Given the description of an element on the screen output the (x, y) to click on. 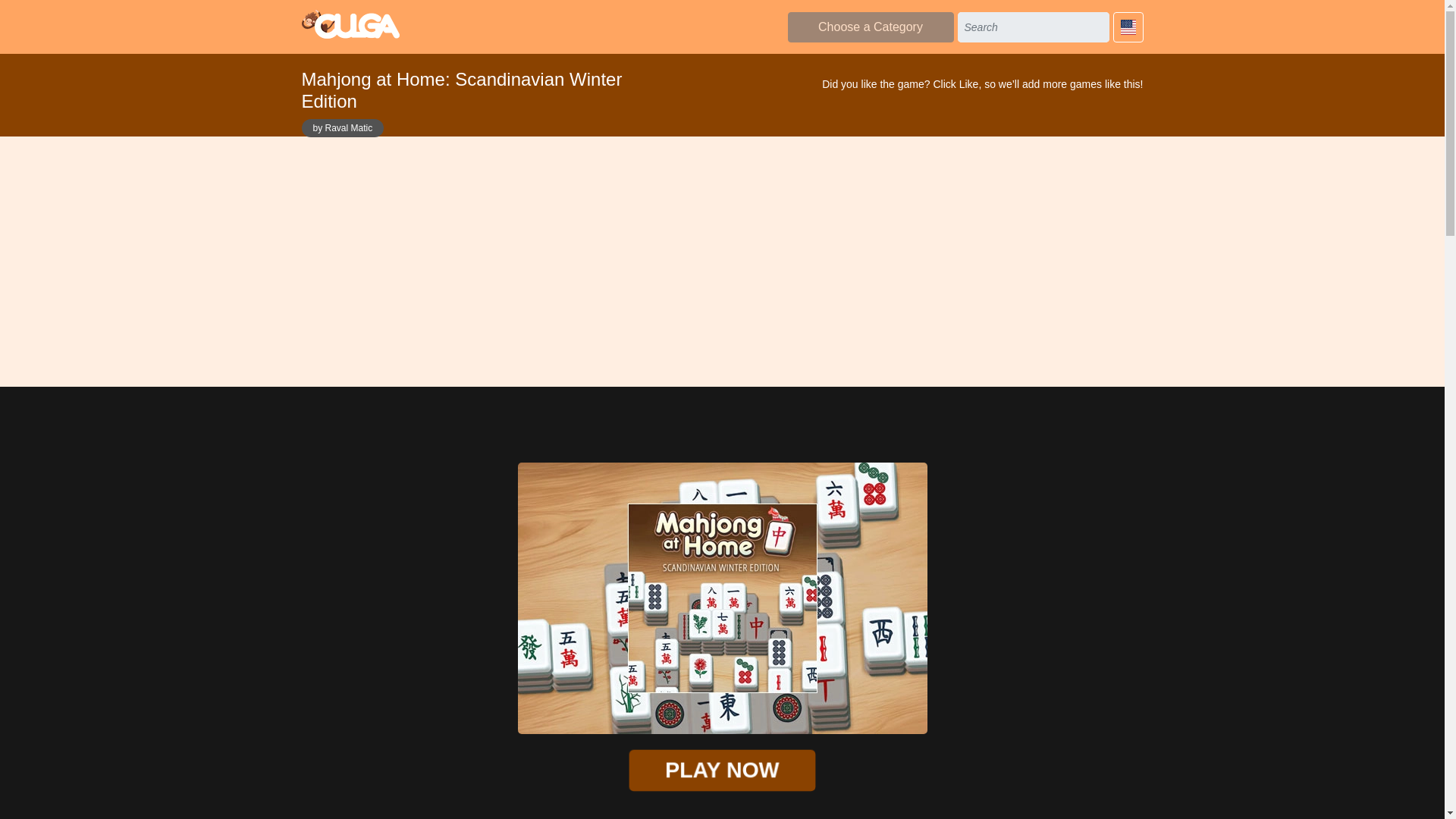
Culga.com (349, 23)
Culga.com (349, 23)
Choose a Category (870, 27)
PLAY NOW (714, 768)
